Given the description of an element on the screen output the (x, y) to click on. 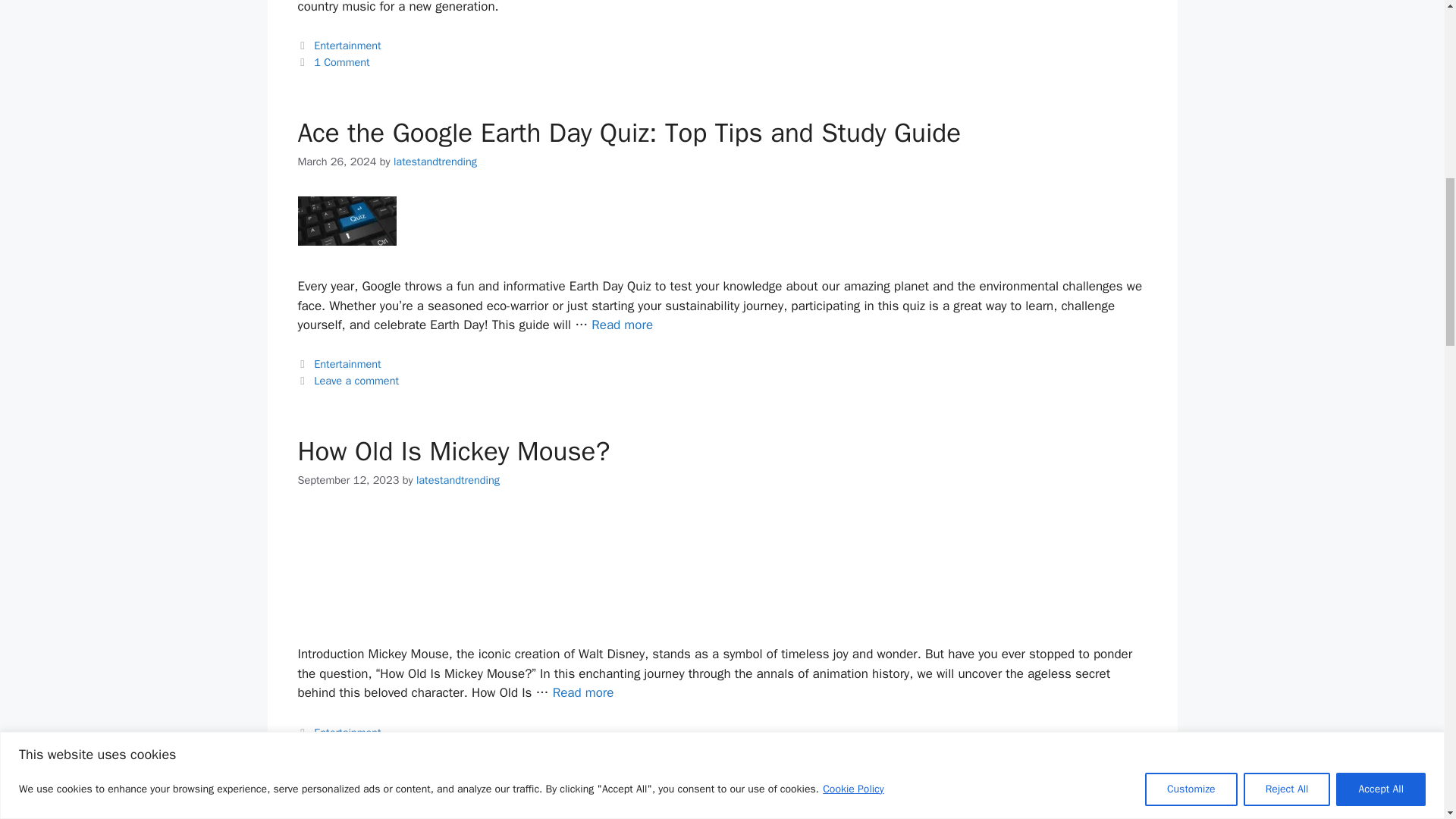
How Old Is Mickey Mouse? (583, 692)
Read more (621, 324)
How Old Is Mickey Mouse? 4 (346, 564)
Ace the Google Earth Day Quiz: Top Tips and Study Guide (628, 132)
1 Comment (341, 61)
Ace the Google Earth Day Quiz: Top Tips and Study Guide (621, 324)
View all posts by latestandtrending (457, 479)
View all posts by latestandtrending (435, 161)
Entertainment (347, 45)
Ace the Google Earth Day Quiz: Top Tips and Study Guide 3 (346, 220)
